Given the description of an element on the screen output the (x, y) to click on. 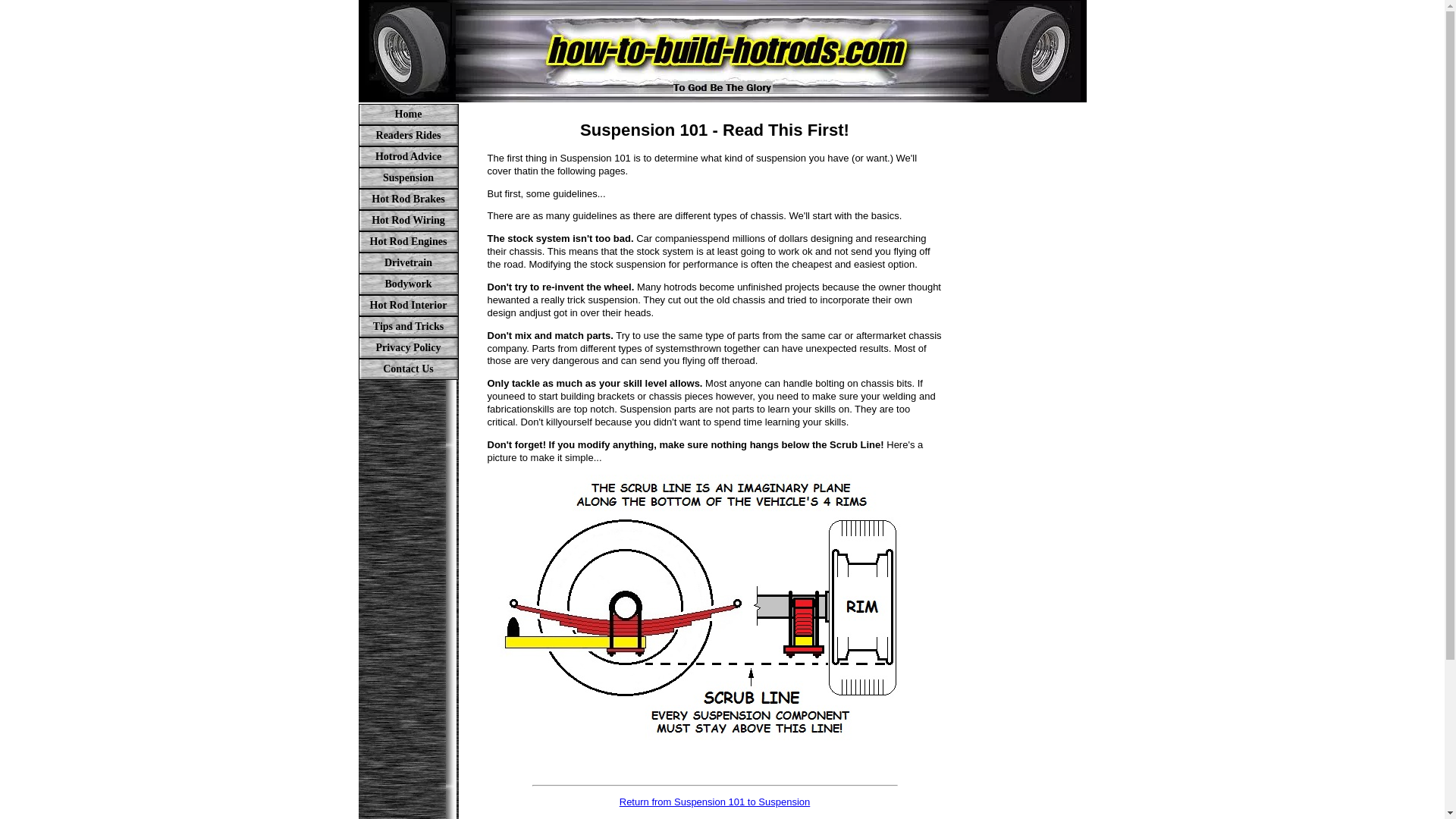
Hot Rod Wiring (408, 219)
Suspension (408, 178)
Home (408, 114)
Bodywork (408, 283)
Drivetrain (408, 262)
Return from Suspension 101 to Suspension (715, 801)
Readers Rides (408, 135)
Tips and Tricks (408, 326)
Hot Rod Interior (408, 305)
Contact Us (408, 369)
